Given the description of an element on the screen output the (x, y) to click on. 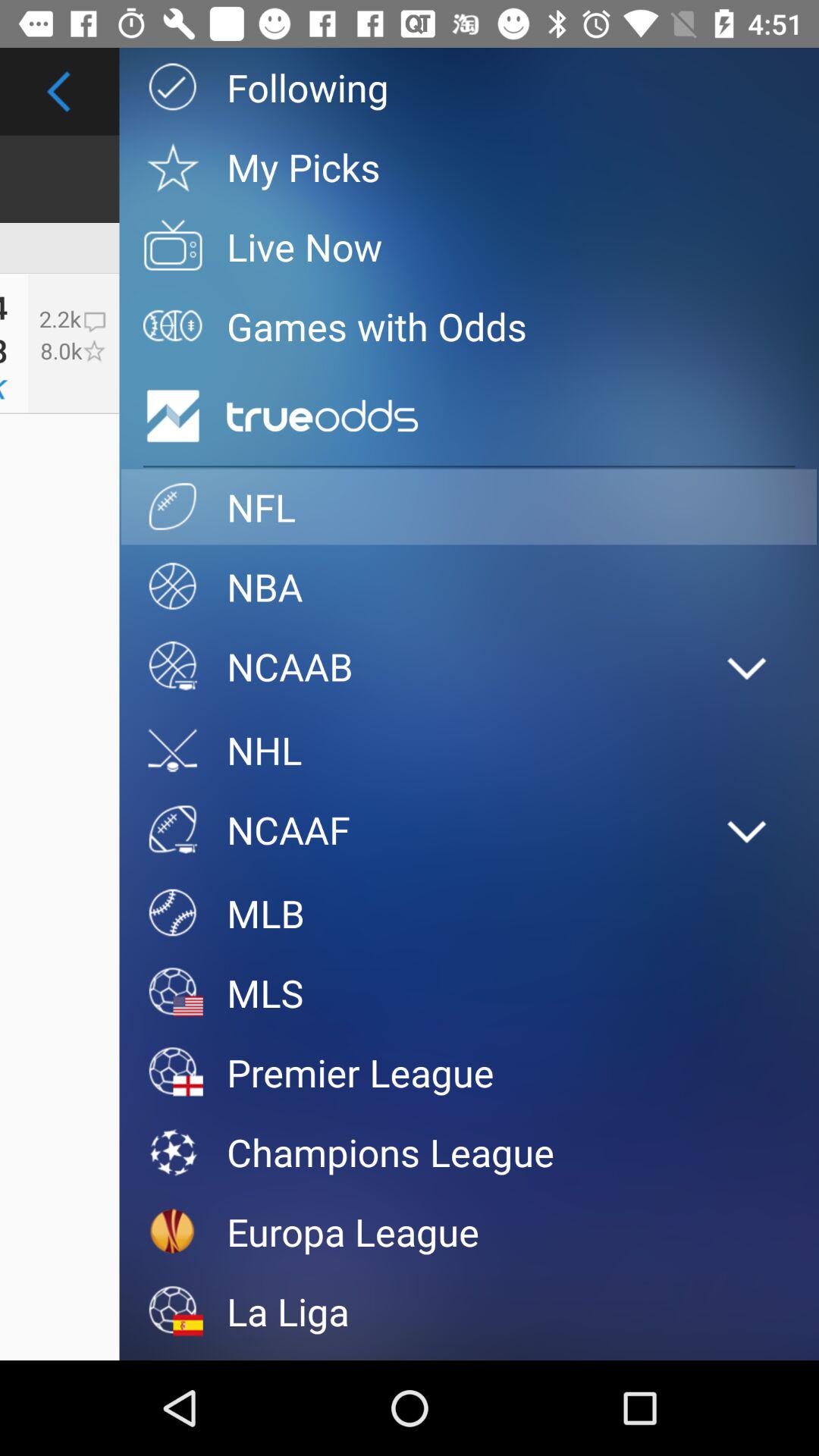
turn on the icon next to 2 2k c (3, 349)
